Given the description of an element on the screen output the (x, y) to click on. 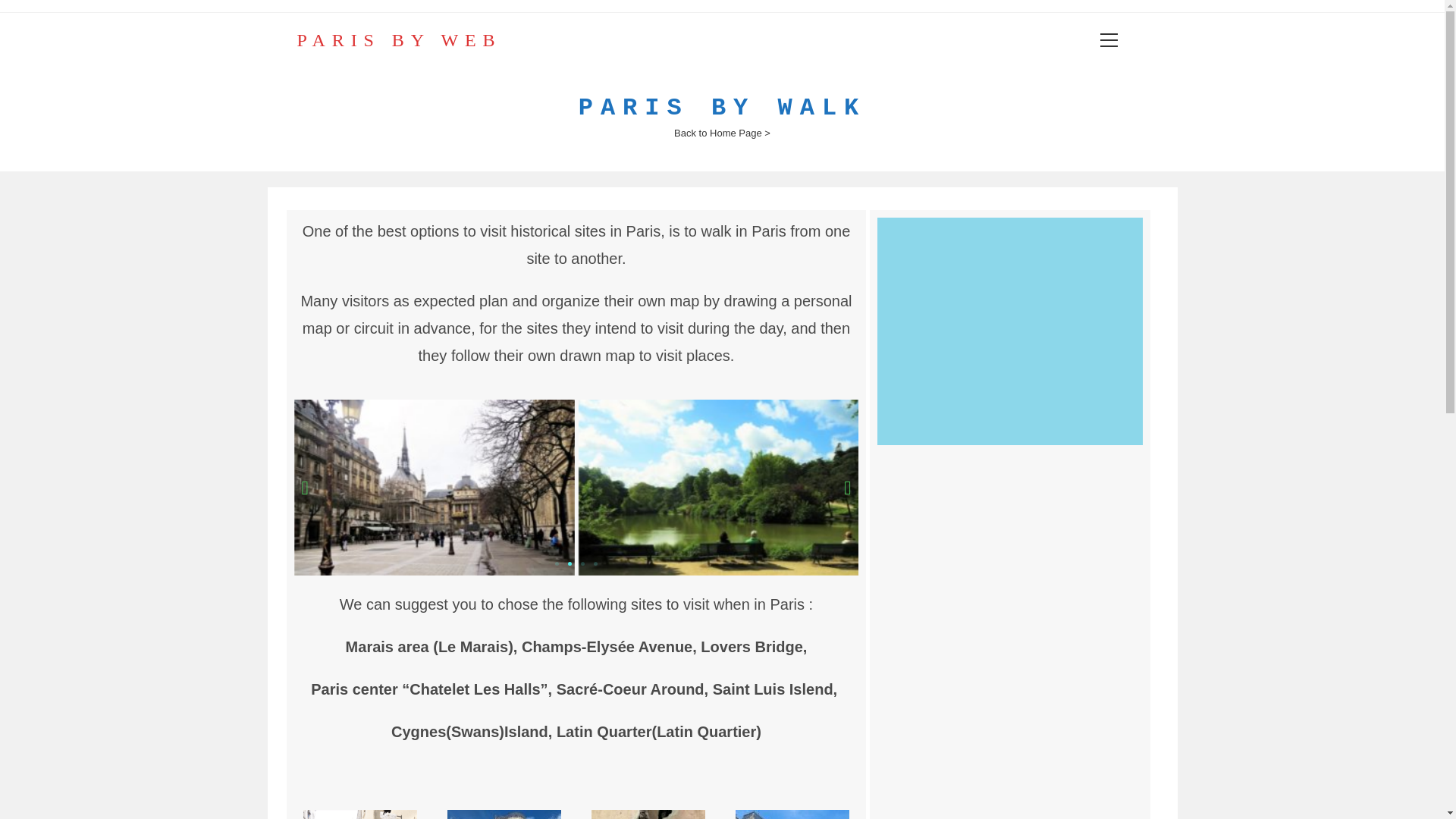
PARIS BY WEB (399, 39)
Paris (1009, 331)
Paris, Latin Quarter (1009, 573)
